Given the description of an element on the screen output the (x, y) to click on. 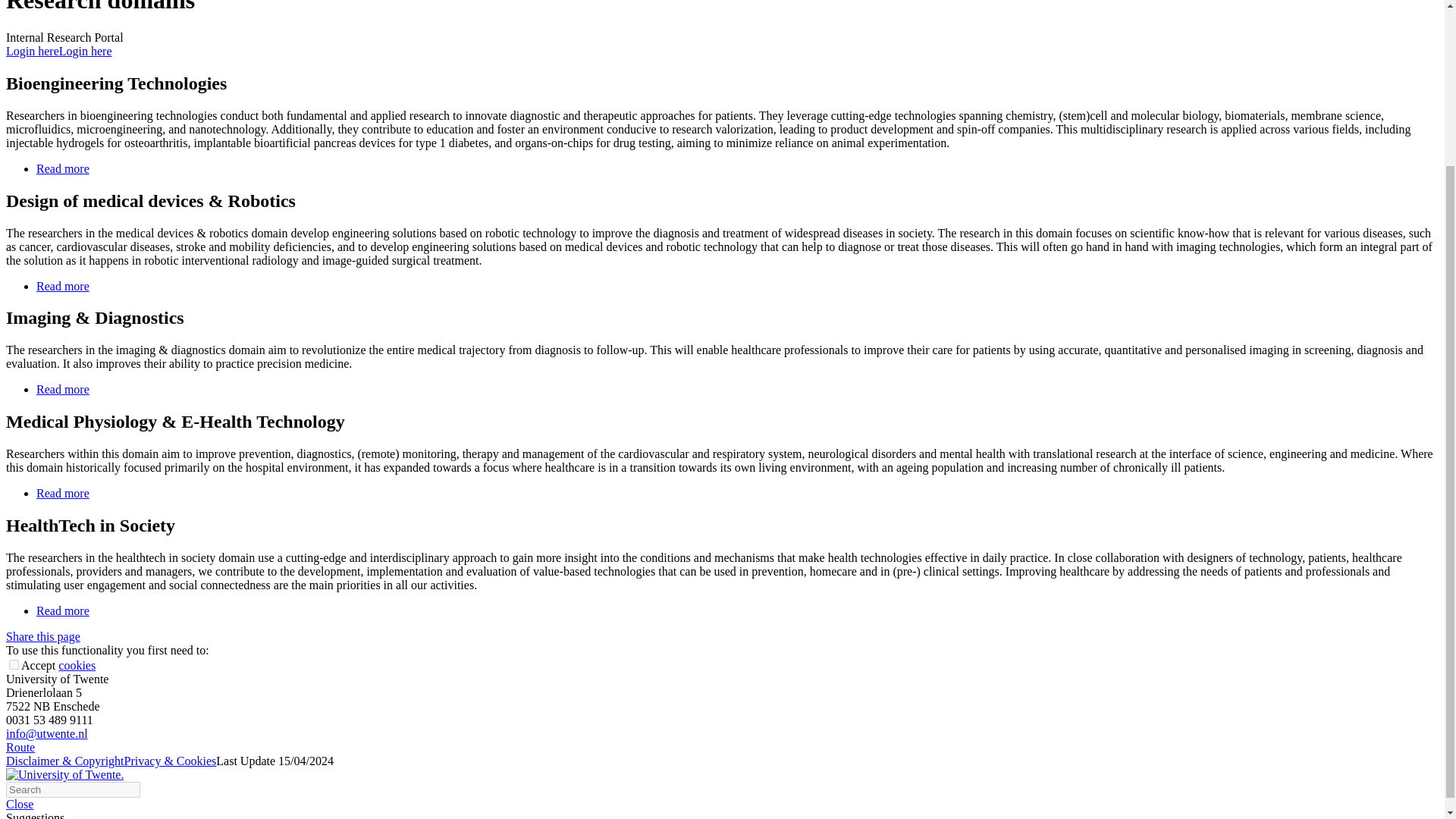
Read more (62, 285)
Login hereLogin here (58, 51)
Read more (62, 168)
Read more (62, 492)
Read more (62, 389)
Route (19, 747)
Read more (62, 610)
on (13, 664)
Close (19, 803)
cookies (77, 665)
Share this page (42, 635)
